Given the description of an element on the screen output the (x, y) to click on. 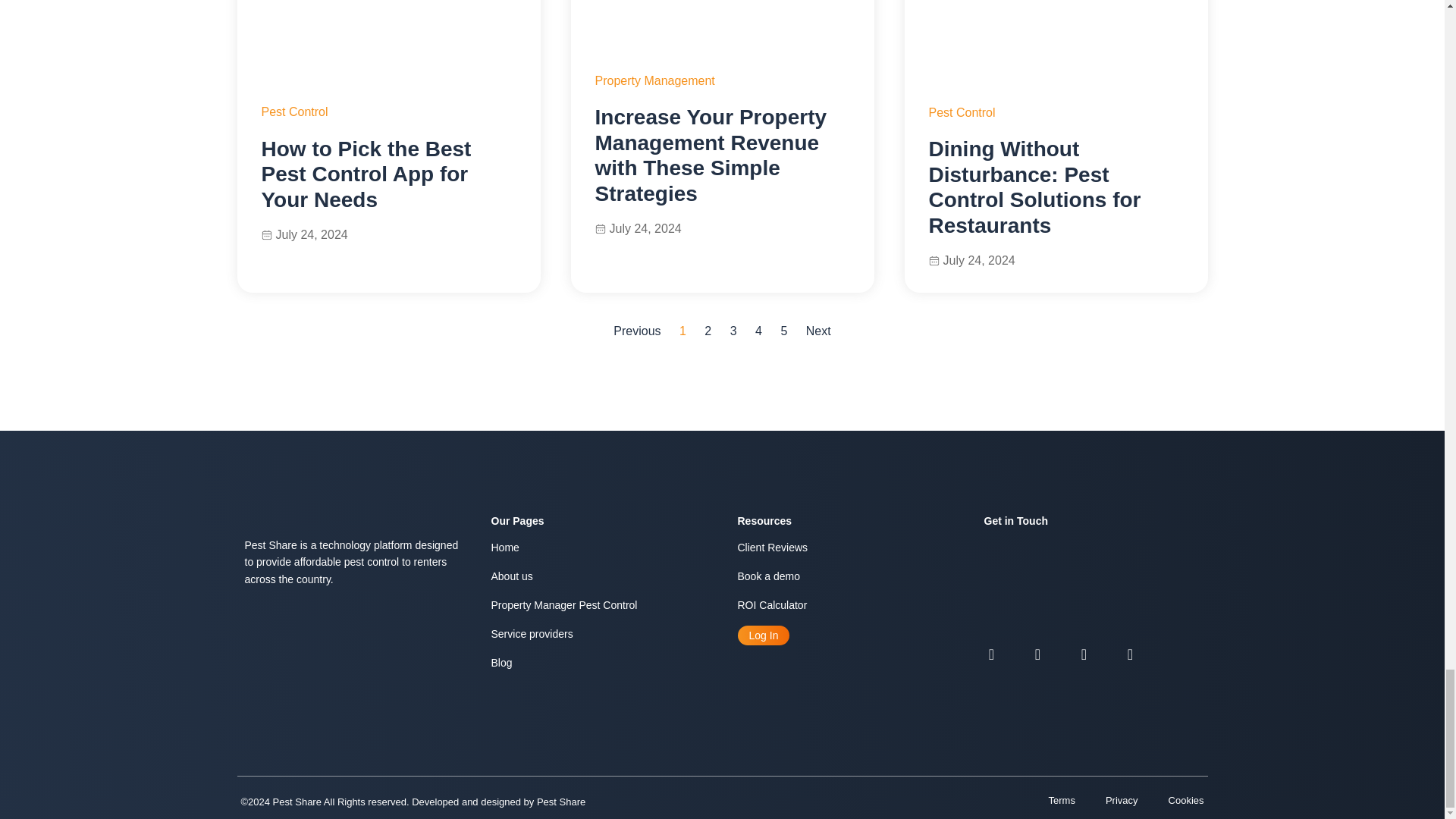
Home (599, 547)
July 24, 2024 (637, 228)
About us (599, 575)
How to Pick the Best Pest Control App for Your Needs (365, 174)
July 24, 2024 (971, 260)
July 24, 2024 (303, 234)
Service providers (599, 633)
Blog (599, 662)
Next (818, 330)
Client Reviews (844, 547)
Property Manager Pest Control (599, 604)
